Given the description of an element on the screen output the (x, y) to click on. 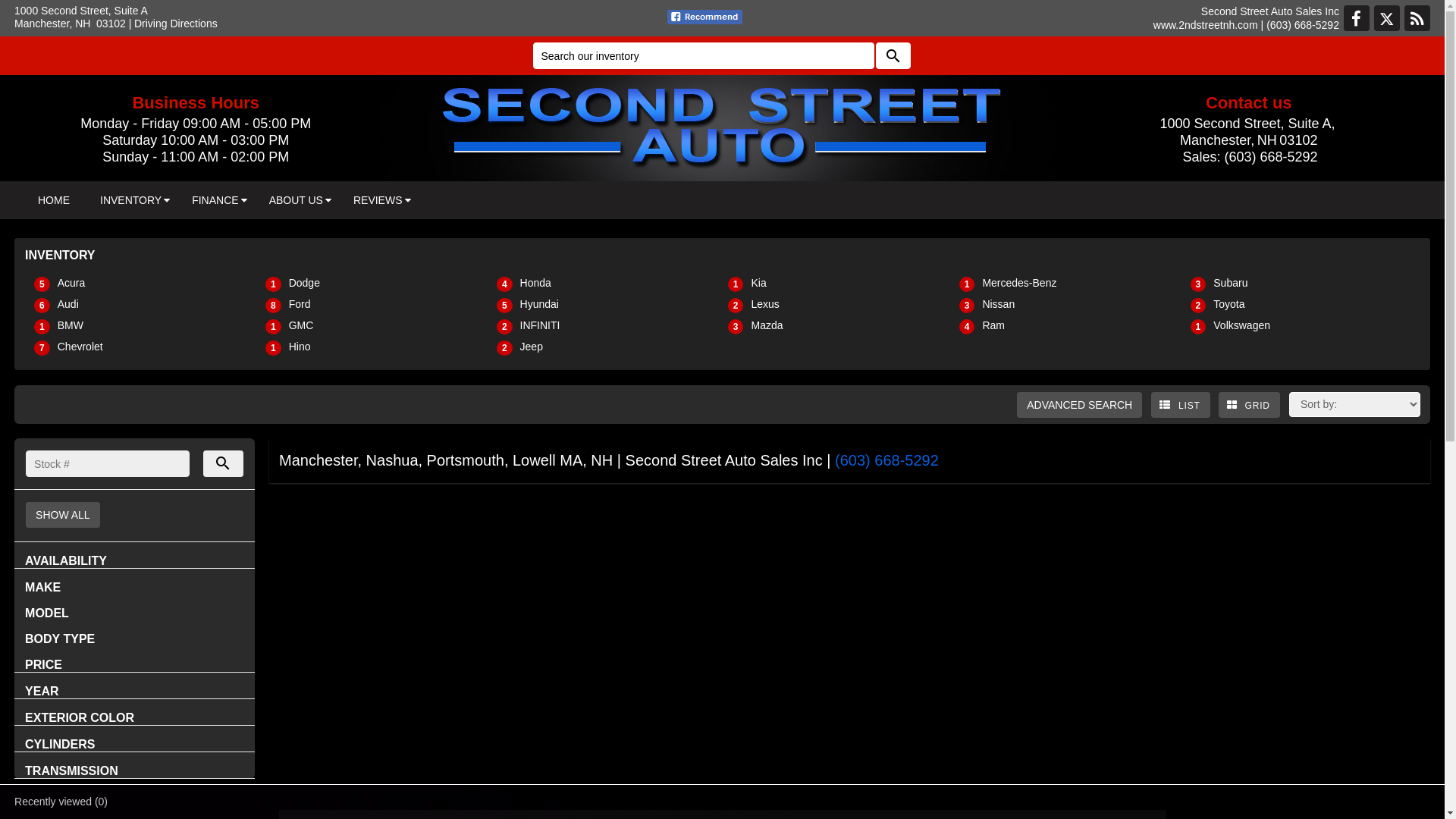
fb recommend Element type: hover (704, 16)
ABOUT US Element type: text (296, 200)
search Element type: text (892, 55)
INVENTORY Element type: text (130, 200)
search Element type: text (223, 463)
Driving Directions Element type: text (175, 23)
LIST Element type: text (1180, 404)
www.2ndstreetnh.com Element type: text (1205, 24)
REVIEWS Element type: text (377, 200)
SHOW ALL Element type: text (62, 514)
HOME Element type: text (53, 200)
(603) 668-5292 Element type: text (886, 459)
Search our inventory Element type: hover (702, 55)
Sales: (603) 668-5292 Element type: text (1248, 156)
(603) 668-5292 Element type: text (1302, 24)
ADVANCED SEARCH Element type: text (1079, 404)
GRID Element type: text (1249, 404)
FINANCE Element type: text (214, 200)
